Given the description of an element on the screen output the (x, y) to click on. 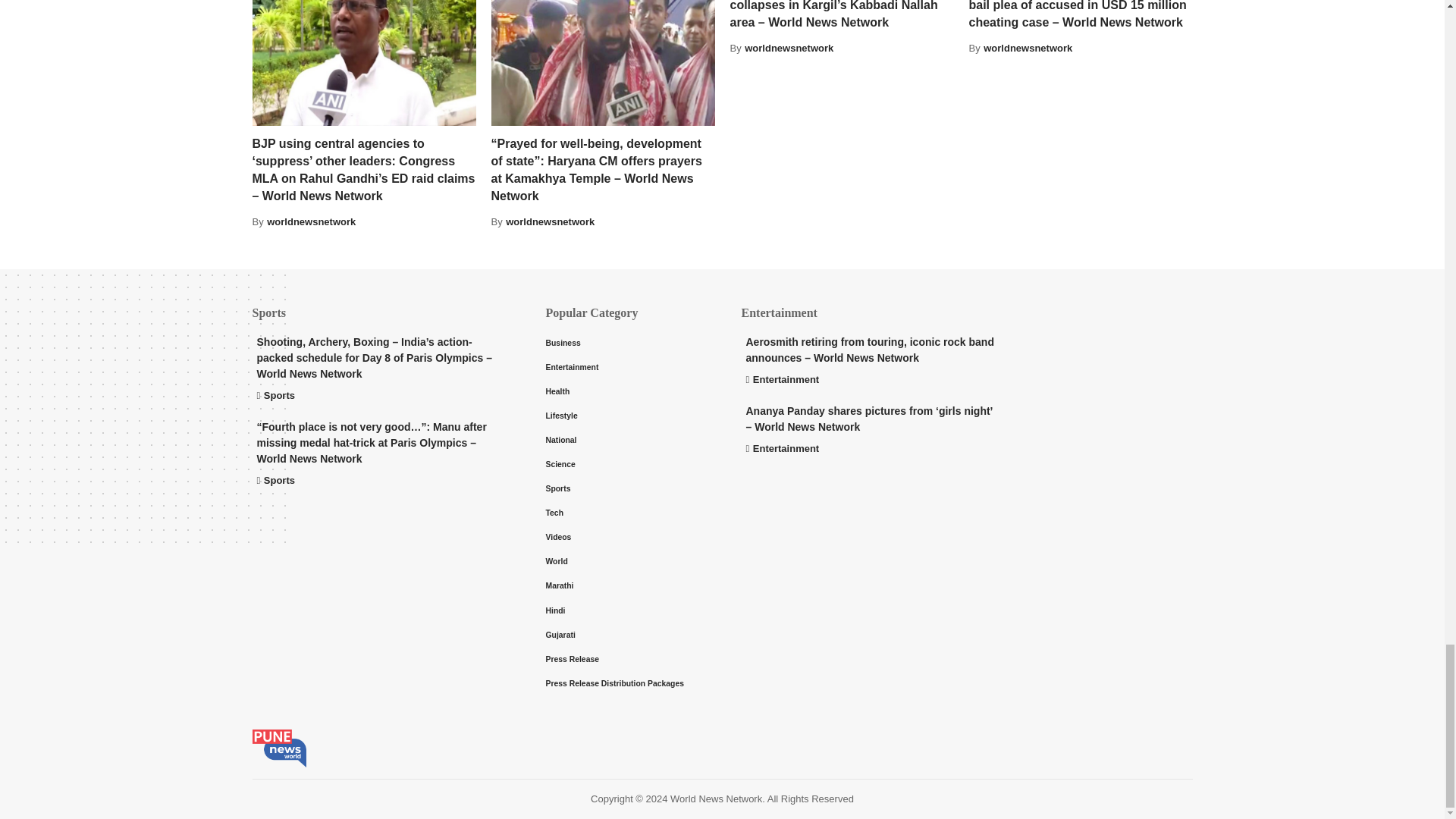
Latest World News Update (278, 748)
